Given the description of an element on the screen output the (x, y) to click on. 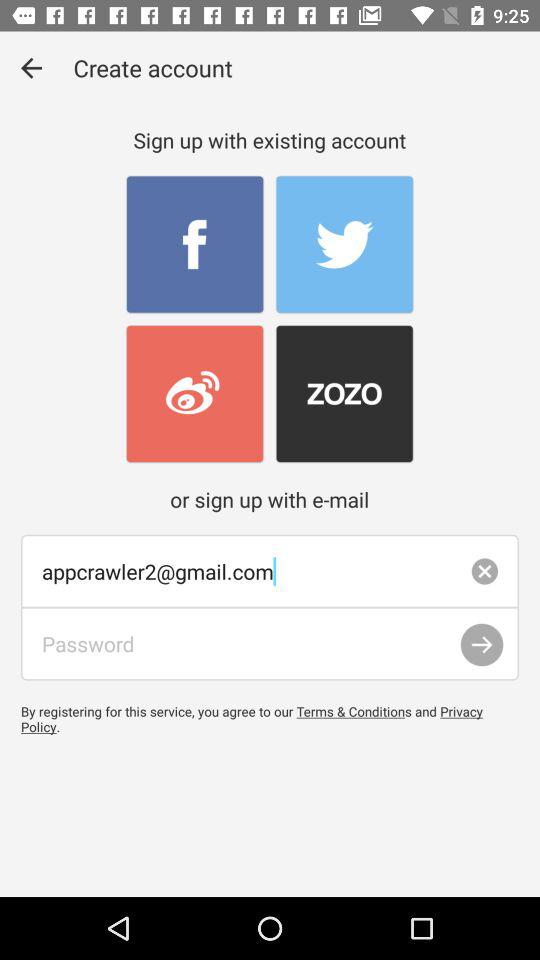
go back (31, 68)
